Given the description of an element on the screen output the (x, y) to click on. 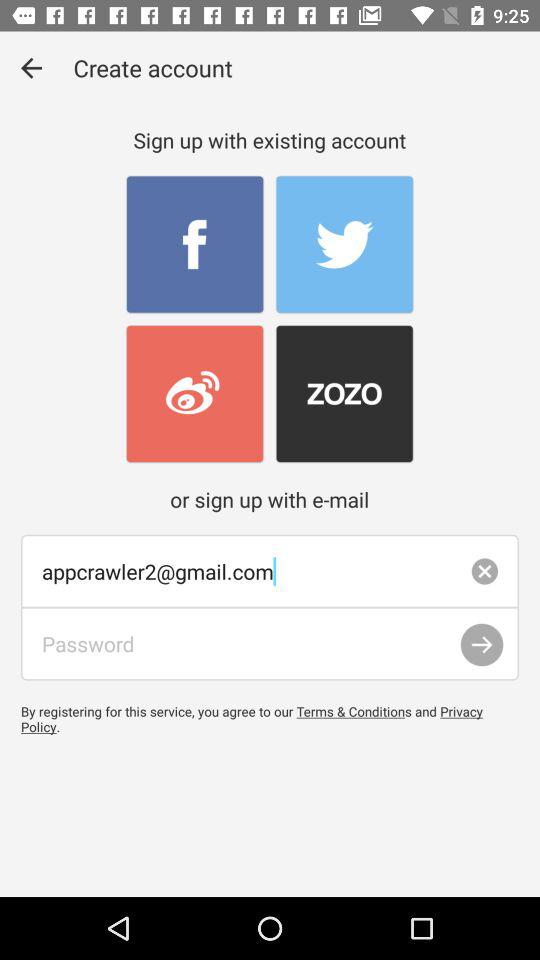
go back (31, 68)
